Given the description of an element on the screen output the (x, y) to click on. 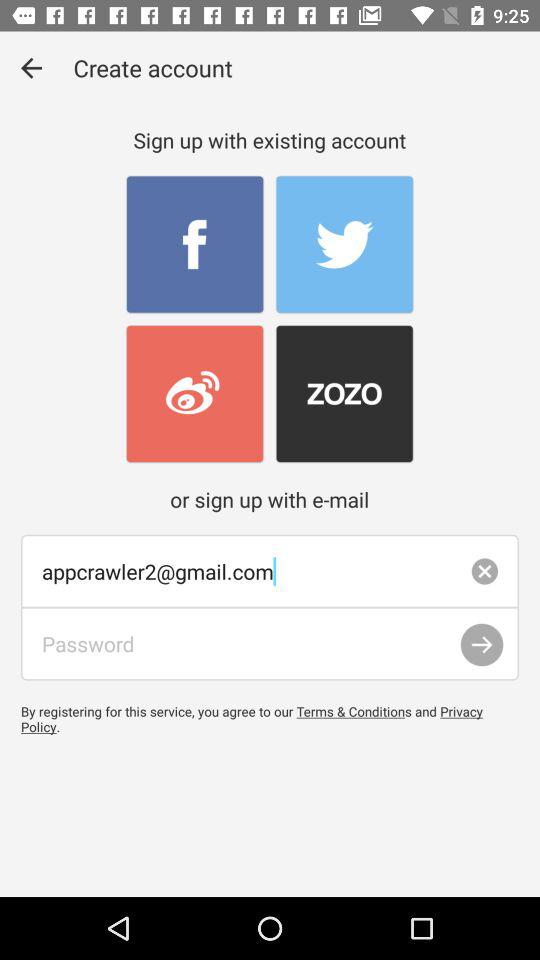
go back (31, 68)
